Given the description of an element on the screen output the (x, y) to click on. 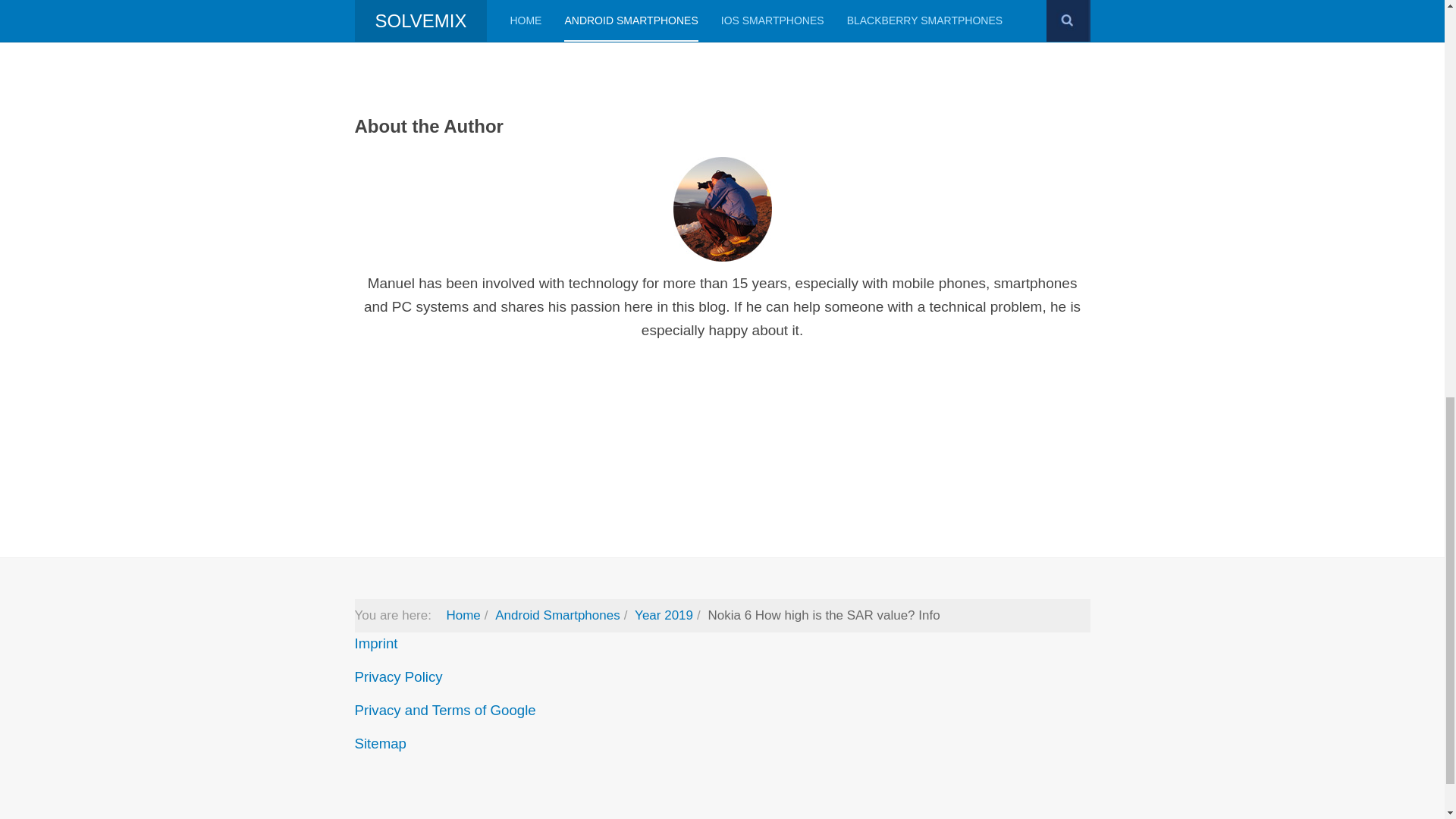
Year 2019 (663, 615)
Imprint (376, 643)
Home (462, 615)
Advertisement (482, 33)
Privacy Policy (398, 676)
Android Smartphones (557, 615)
Privacy and Terms of Google (445, 709)
Sitemap (380, 743)
